Given the description of an element on the screen output the (x, y) to click on. 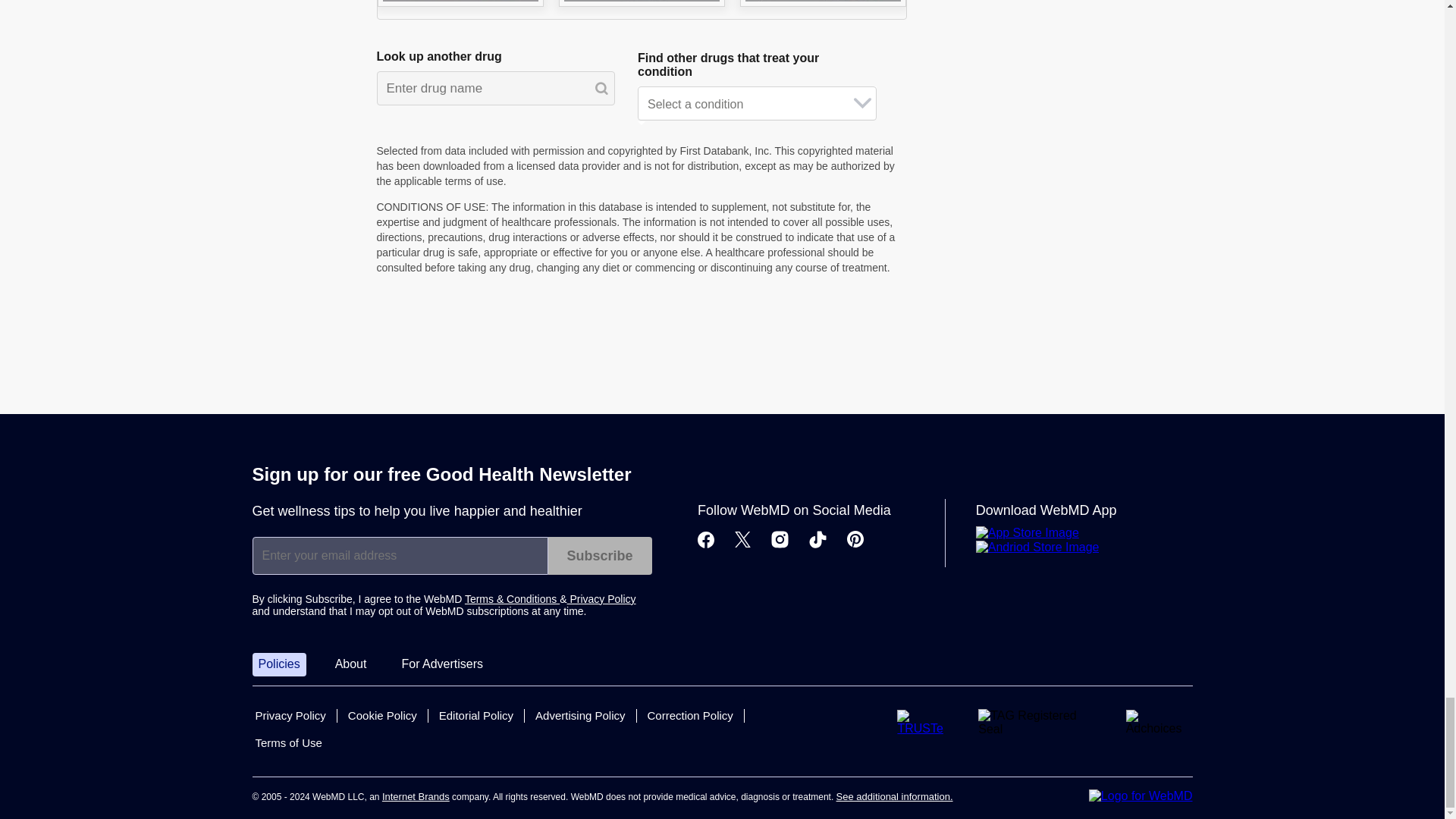
WebMD: Better information. Better health. (1140, 796)
TAG Registered Seal (1039, 723)
Adchoices (1158, 722)
TRUSTe Privacy Certification (924, 722)
